Given the description of an element on the screen output the (x, y) to click on. 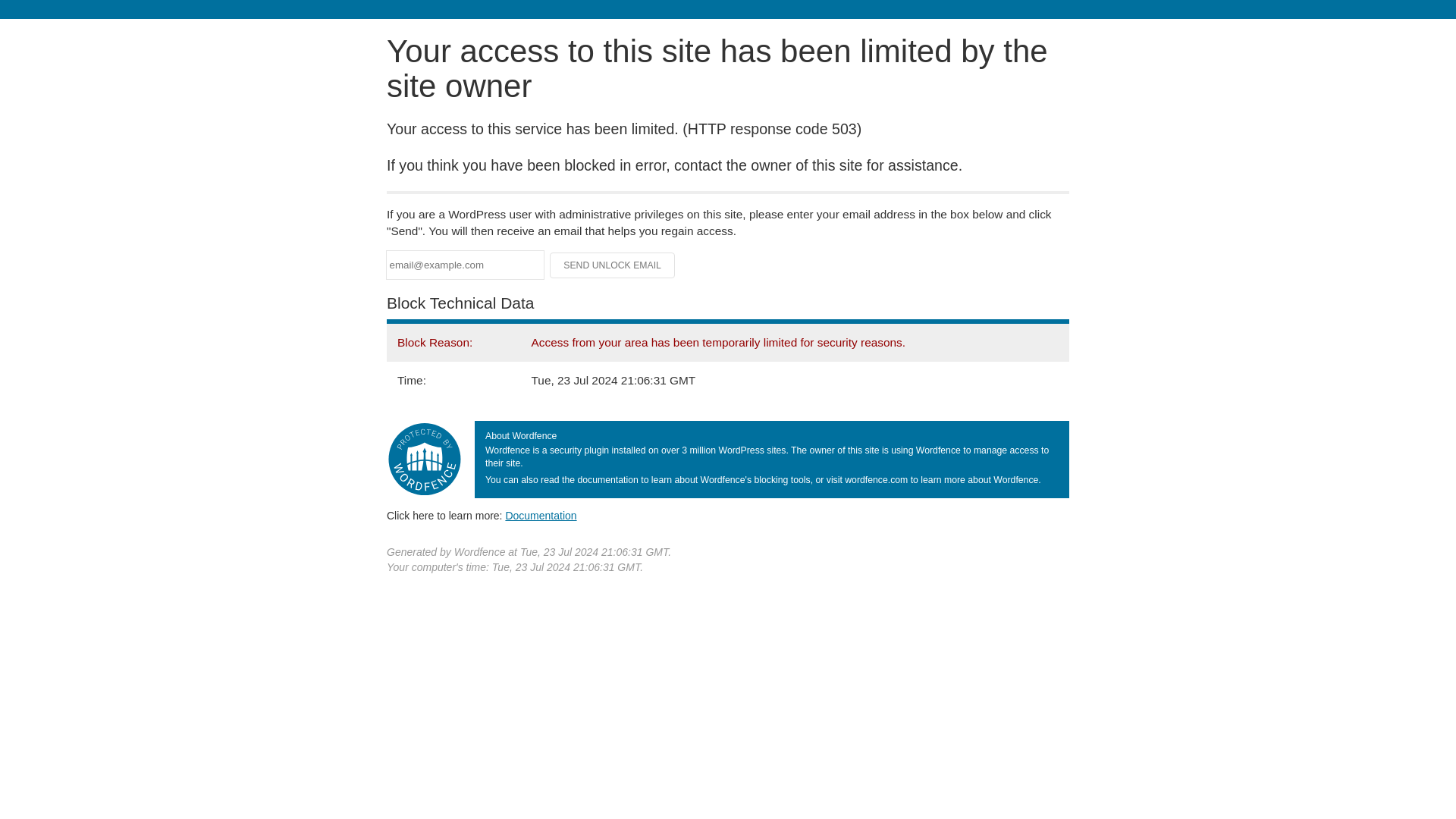
Documentation (540, 515)
Send Unlock Email (612, 265)
Send Unlock Email (612, 265)
